Given the description of an element on the screen output the (x, y) to click on. 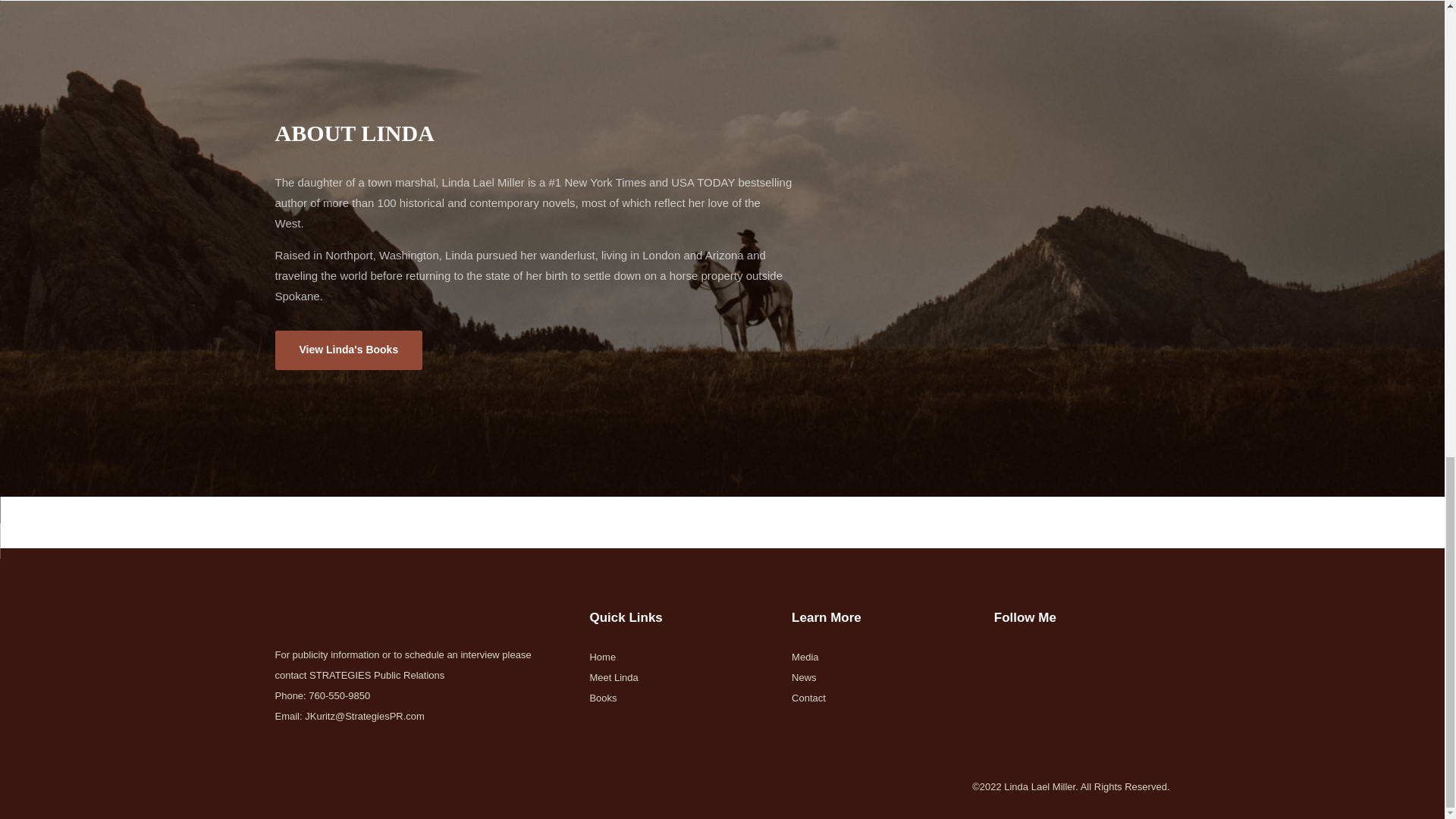
Home (602, 655)
Media (805, 655)
View Linda's Books (348, 350)
Meet Linda (613, 677)
News (804, 677)
Contact (808, 696)
Group 41 (722, 7)
header 2 (393, 601)
Group 41 (722, 516)
Group 39 (722, 548)
